Given the description of an element on the screen output the (x, y) to click on. 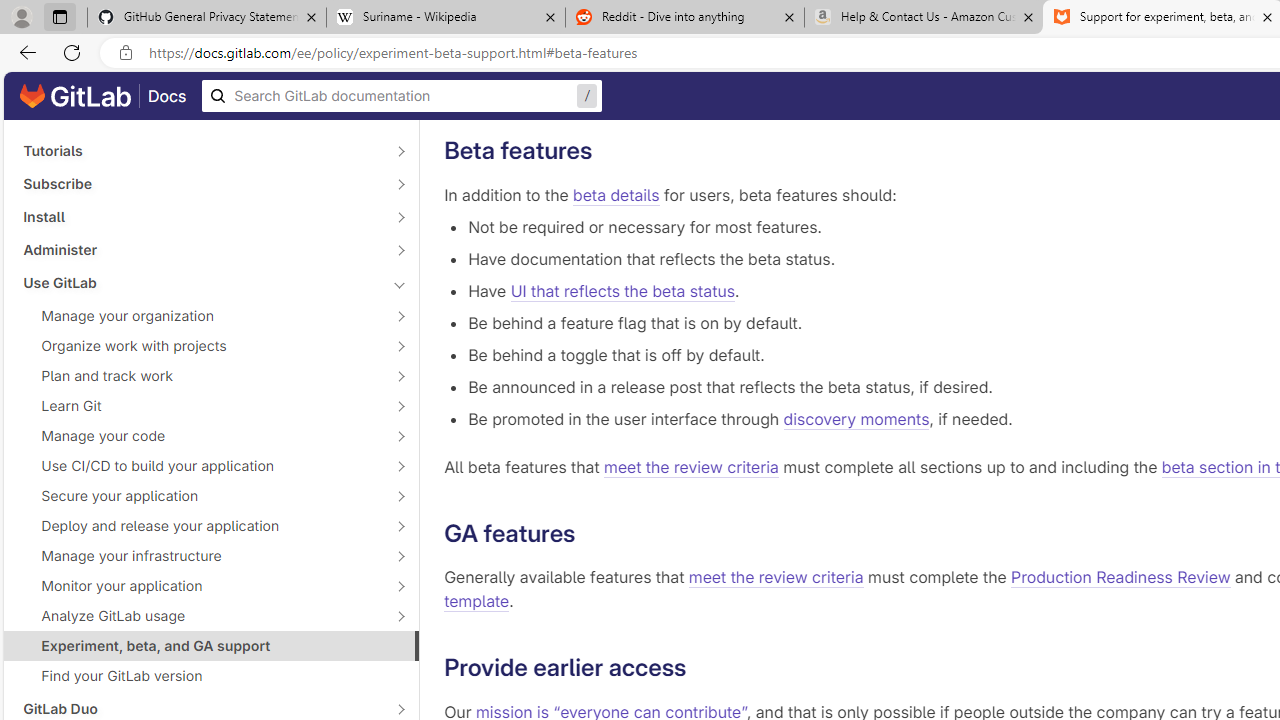
Tutorials (199, 151)
Install (199, 216)
Find your GitLab version (211, 675)
Use CI/CD to build your application (199, 465)
Use GitLab (199, 282)
Learn Git (199, 405)
Experiment, beta, and GA support (211, 645)
UI that reflects the beta status (621, 290)
Subscribe (199, 183)
Manage your code (199, 435)
Production Readiness Review (1121, 577)
